Given the description of an element on the screen output the (x, y) to click on. 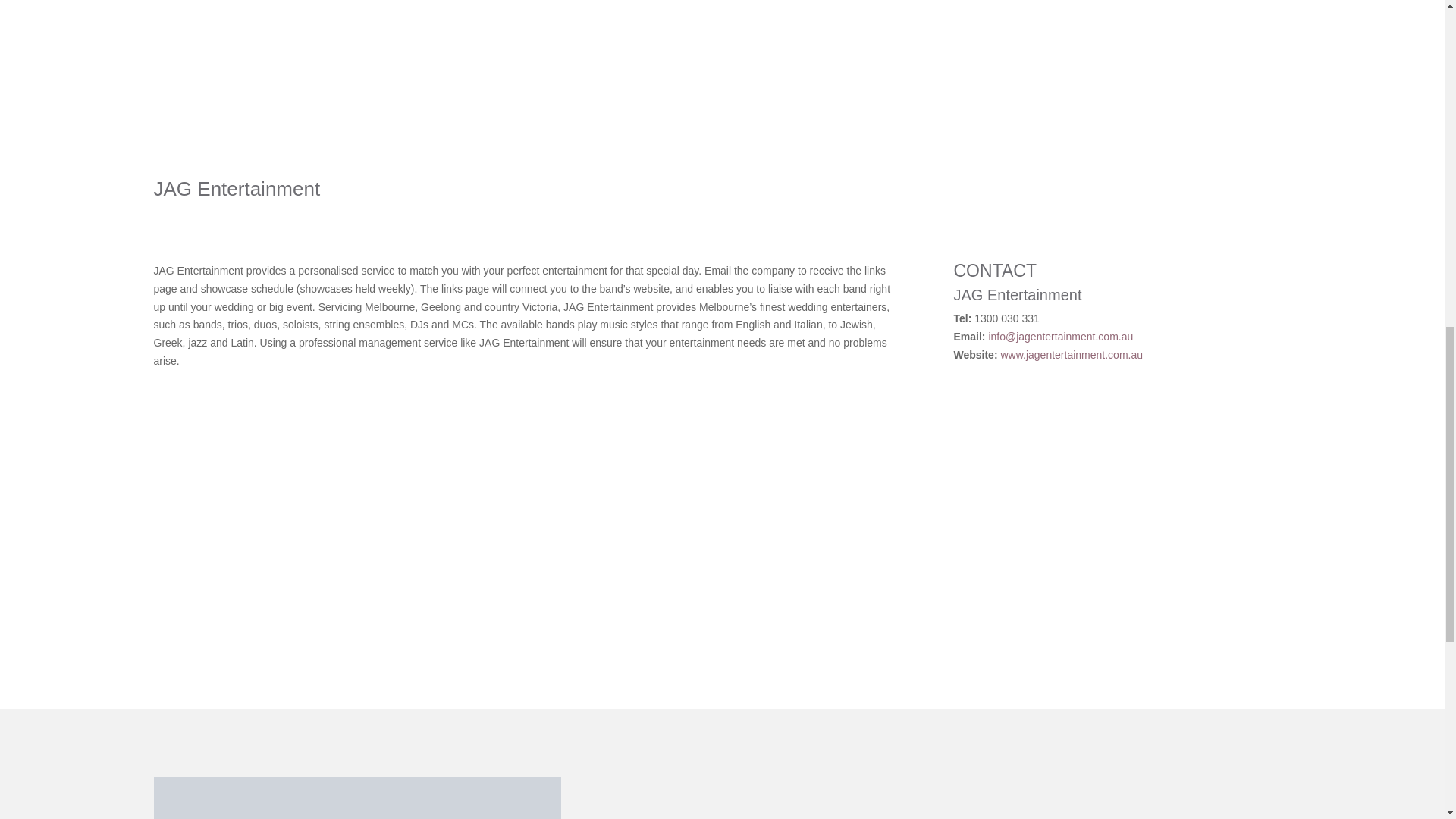
www.jagentertainment.com.au (1071, 354)
